Given the description of an element on the screen output the (x, y) to click on. 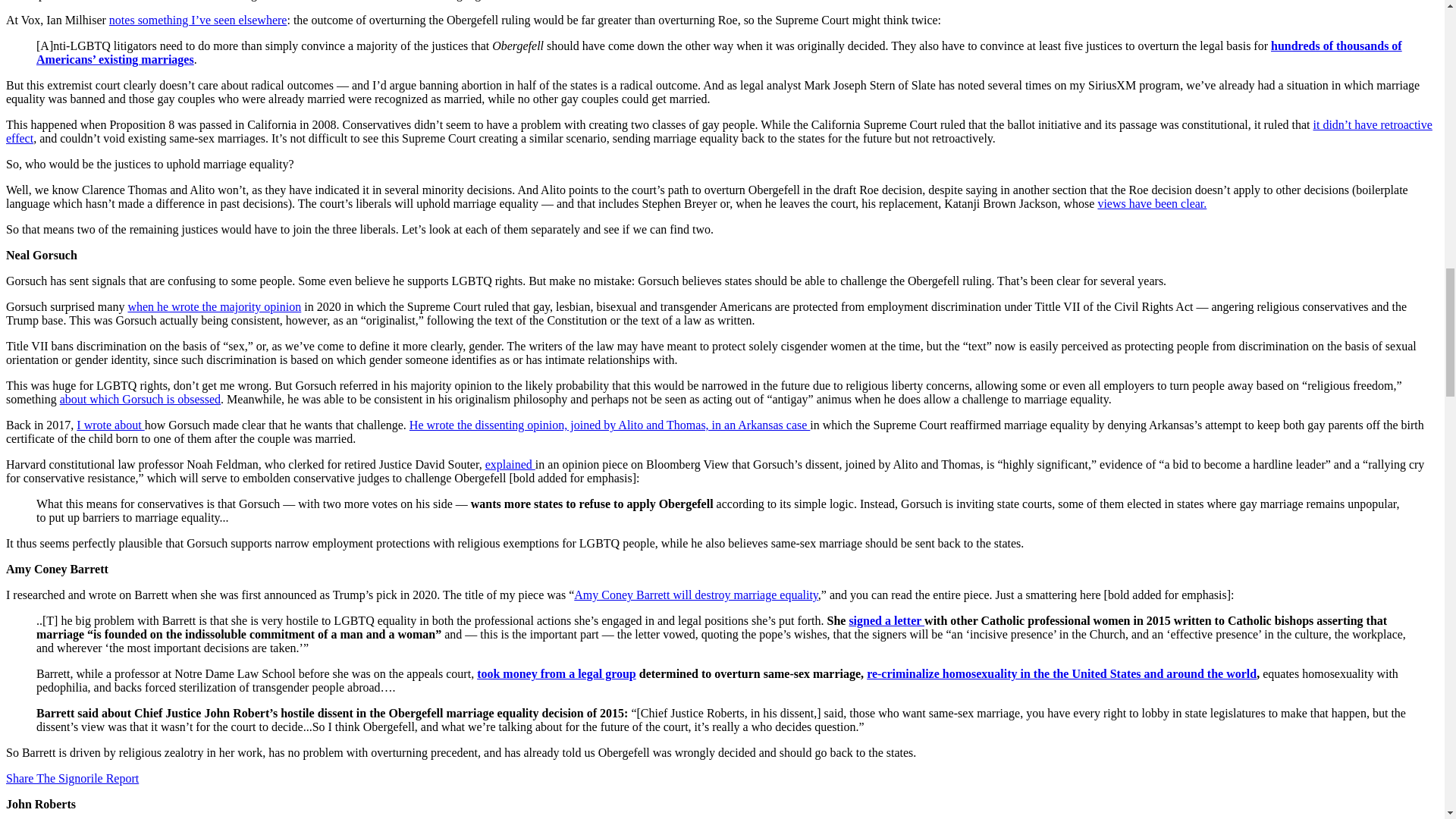
took money from a legal group (556, 673)
I wrote about (110, 424)
about which Gorsuch is obsessed (140, 399)
when he wrote the majority opinion (214, 306)
explained (509, 463)
views have been clear. (1152, 203)
signed a letter (886, 620)
Amy Coney Barrett will destroy marriage equality (695, 594)
